Given the description of an element on the screen output the (x, y) to click on. 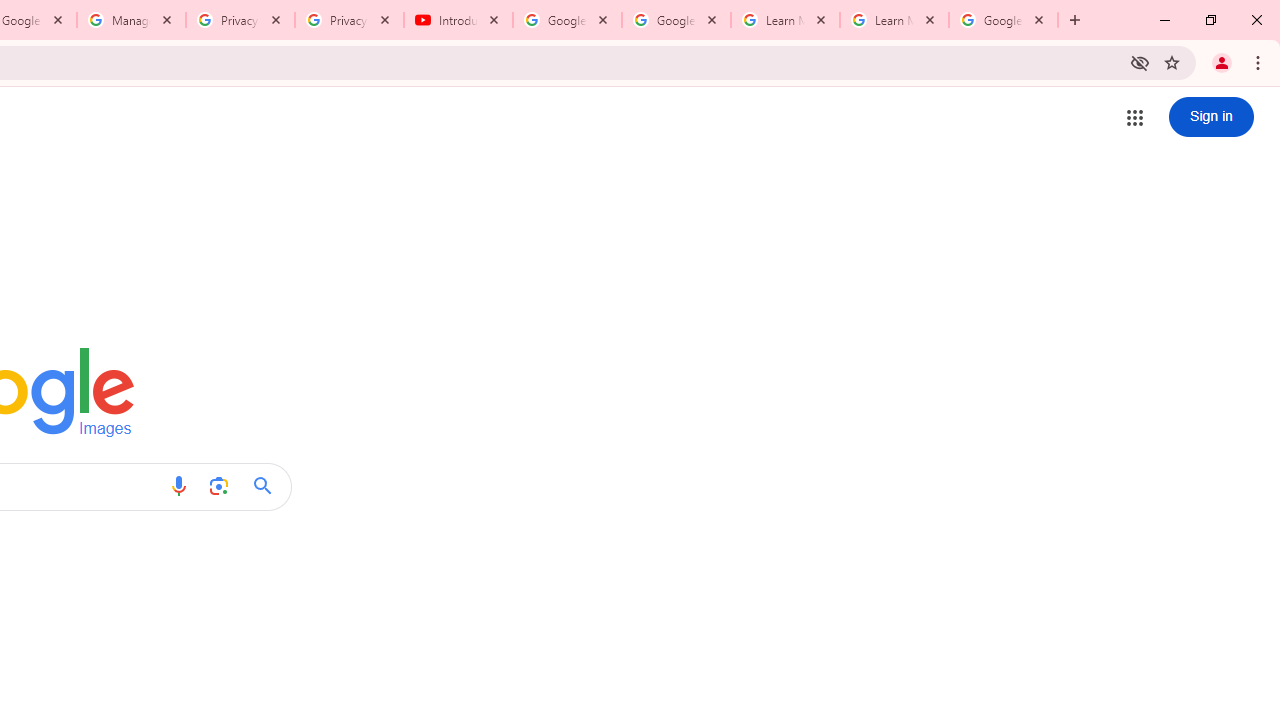
Third-party cookies blocked (1139, 62)
Restore (1210, 20)
Google Account Help (676, 20)
Sign in (1211, 116)
Google Account (1003, 20)
Chrome (1260, 62)
Search by image (218, 485)
Bookmark this tab (1171, 62)
Search by voice (178, 485)
Google Search (268, 485)
